Given the description of an element on the screen output the (x, y) to click on. 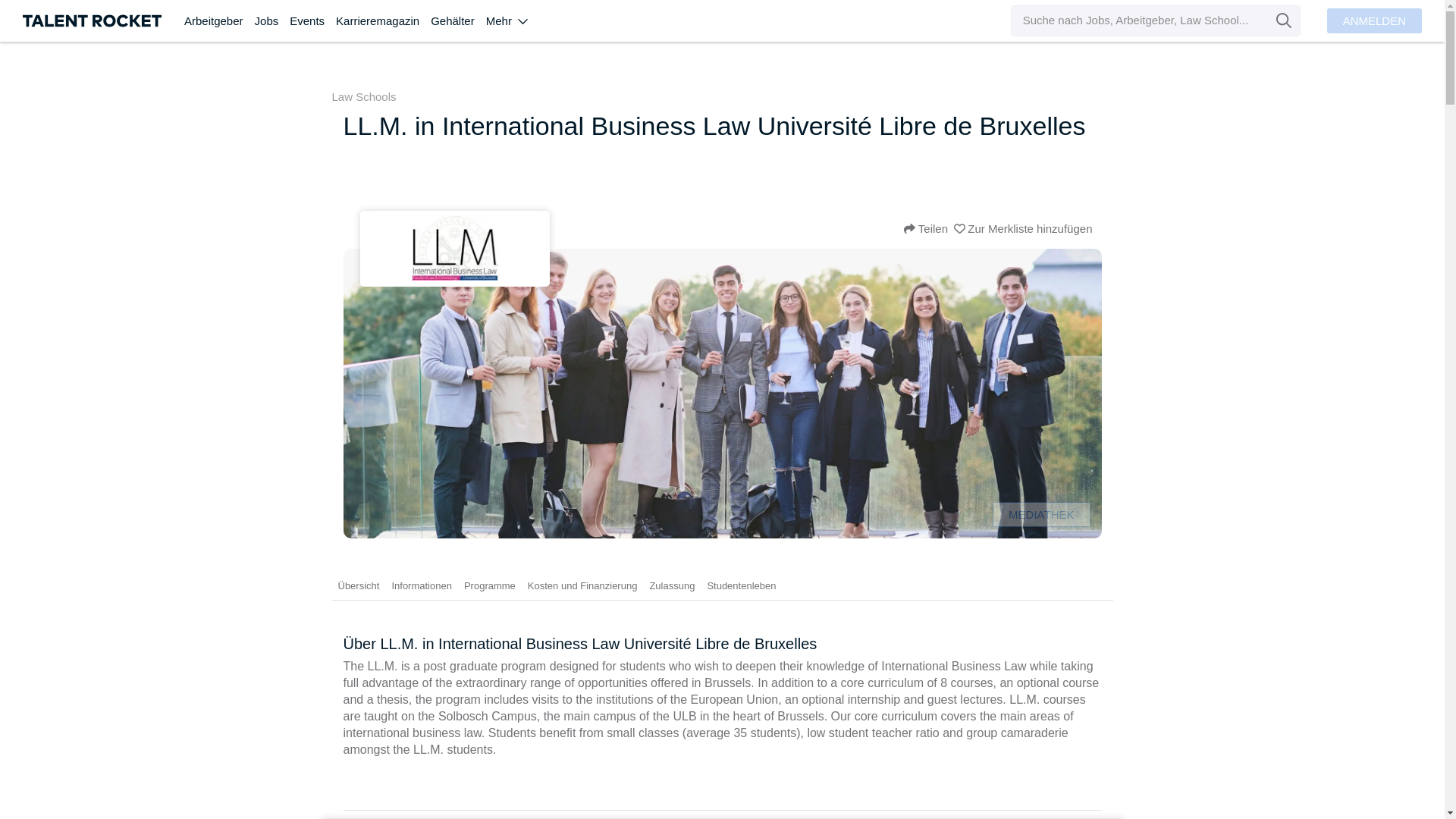
Karrieremagazin (383, 20)
MEDIATHEK (1040, 514)
Law Schools (363, 96)
Teilen (925, 228)
Programme (489, 584)
Studentenleben (740, 584)
Events (312, 20)
Zulassung (671, 584)
Arbeitgeber (219, 20)
ANMELDEN (1374, 20)
